Given the description of an element on the screen output the (x, y) to click on. 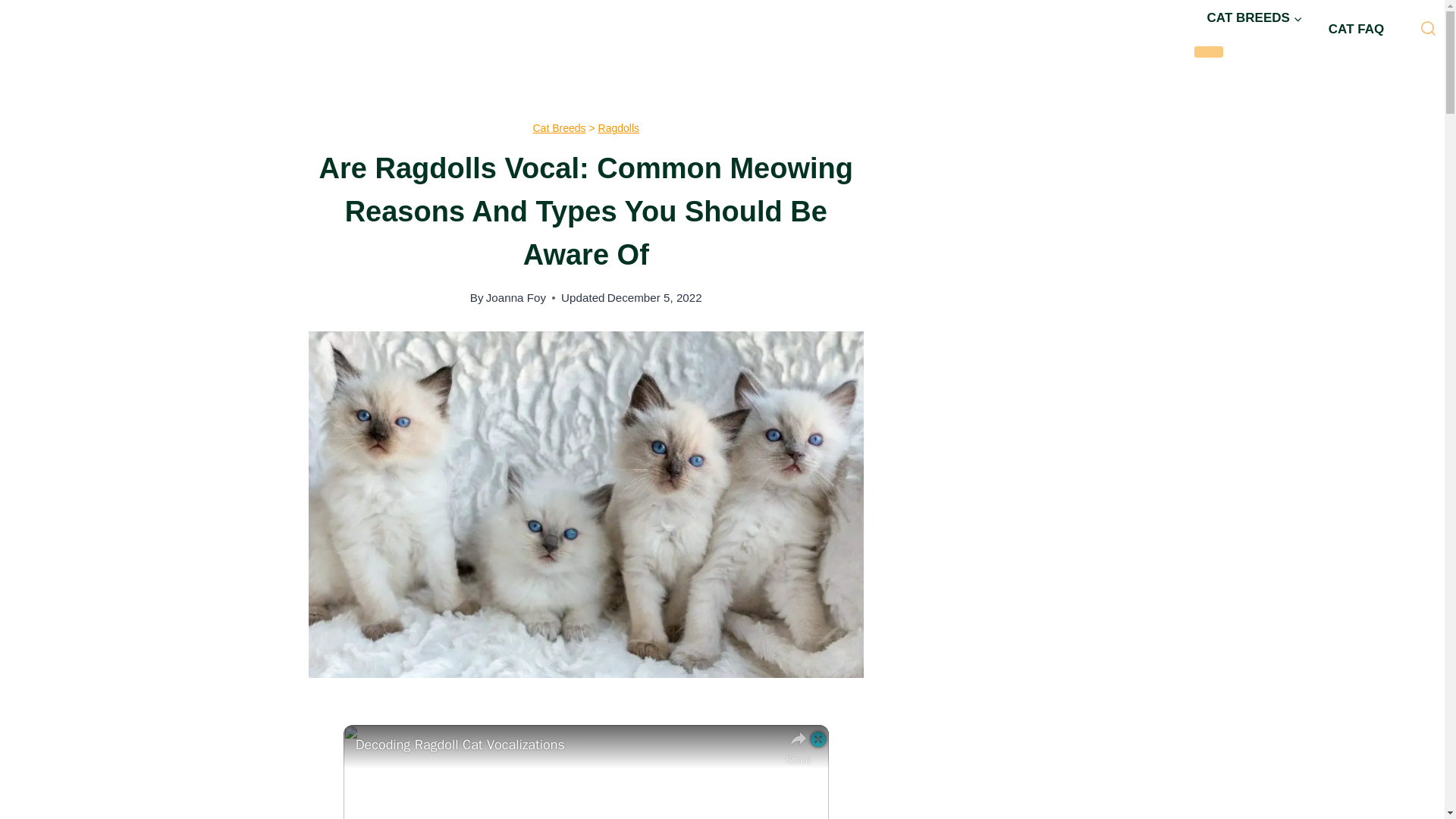
Ragdolls (618, 128)
Joanna Foy (516, 297)
CAT BREEDS (1254, 18)
Cat Breeds (558, 128)
CAT FAQ (1356, 29)
Decoding Ragdoll Cat Vocalizations (566, 744)
